Given the description of an element on the screen output the (x, y) to click on. 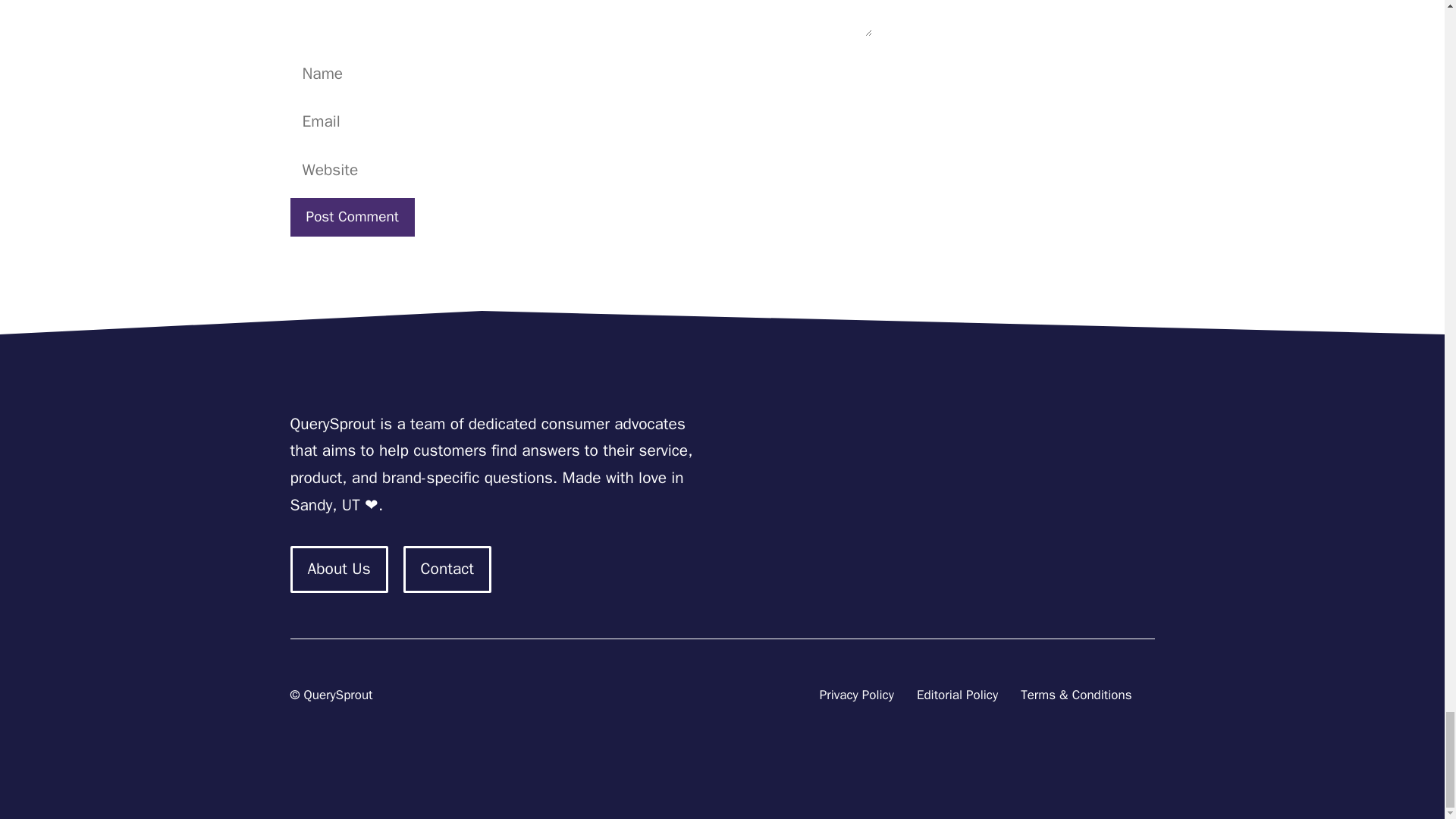
Post Comment (351, 217)
